Given the description of an element on the screen output the (x, y) to click on. 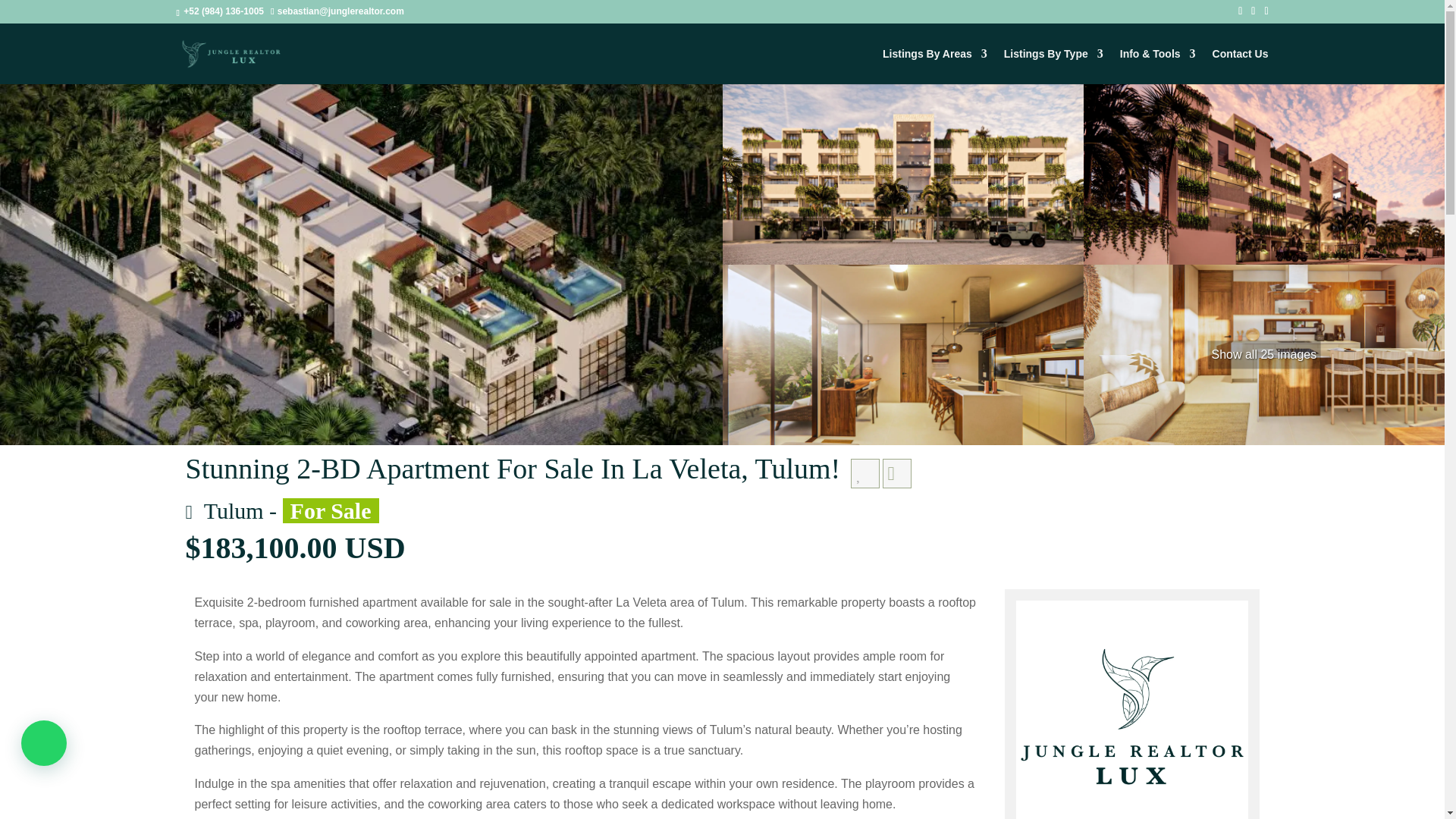
Listings By Areas (934, 66)
Contact Us (1240, 66)
Listings By Type (1053, 66)
